Given the description of an element on the screen output the (x, y) to click on. 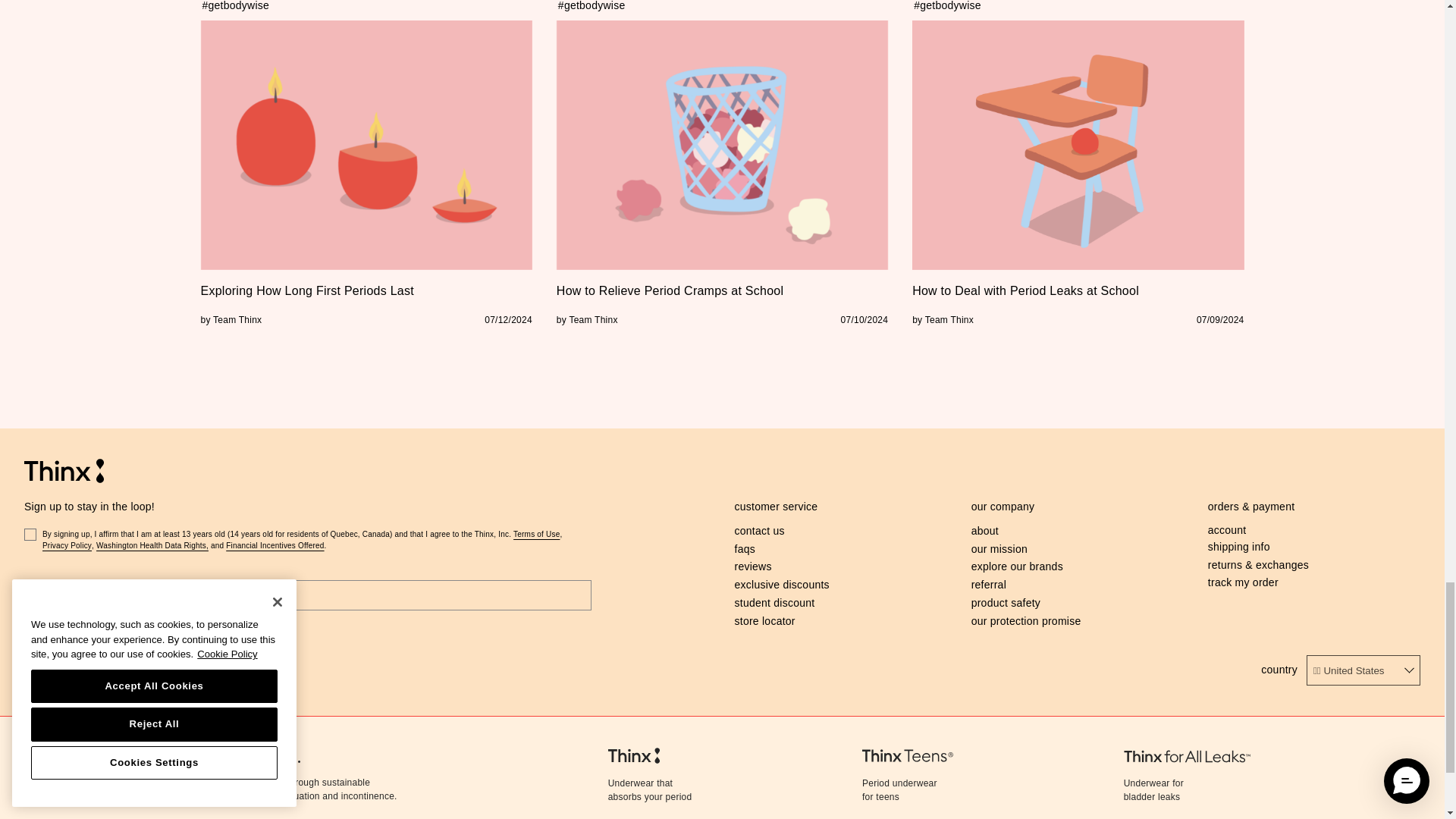
Facebook Icon (31, 668)
Twitter Icon (98, 668)
email-checkbox (30, 534)
